Given the description of an element on the screen output the (x, y) to click on. 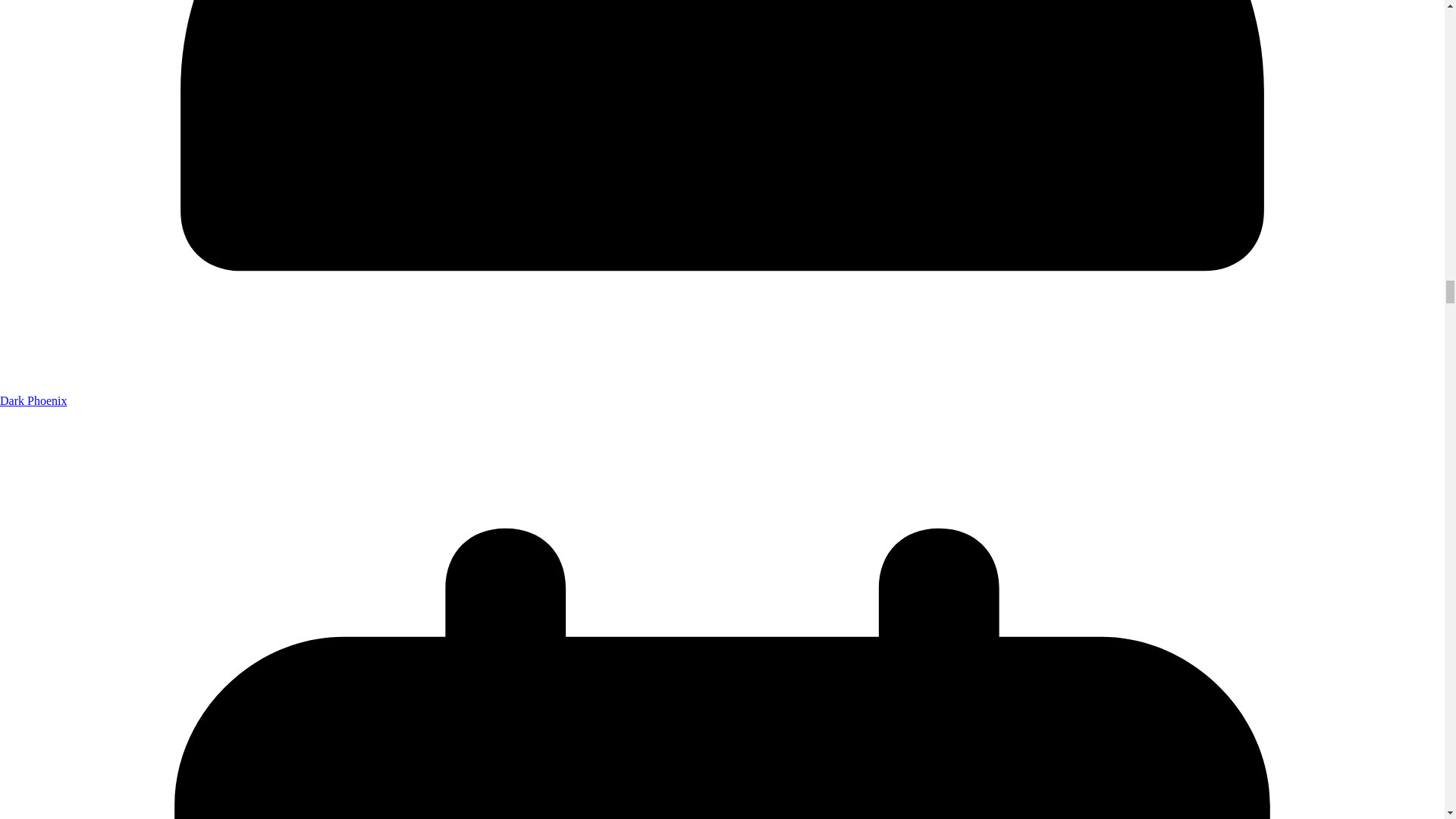
Dark Phoenix (33, 400)
Dark Phoenix (33, 400)
